Given the description of an element on the screen output the (x, y) to click on. 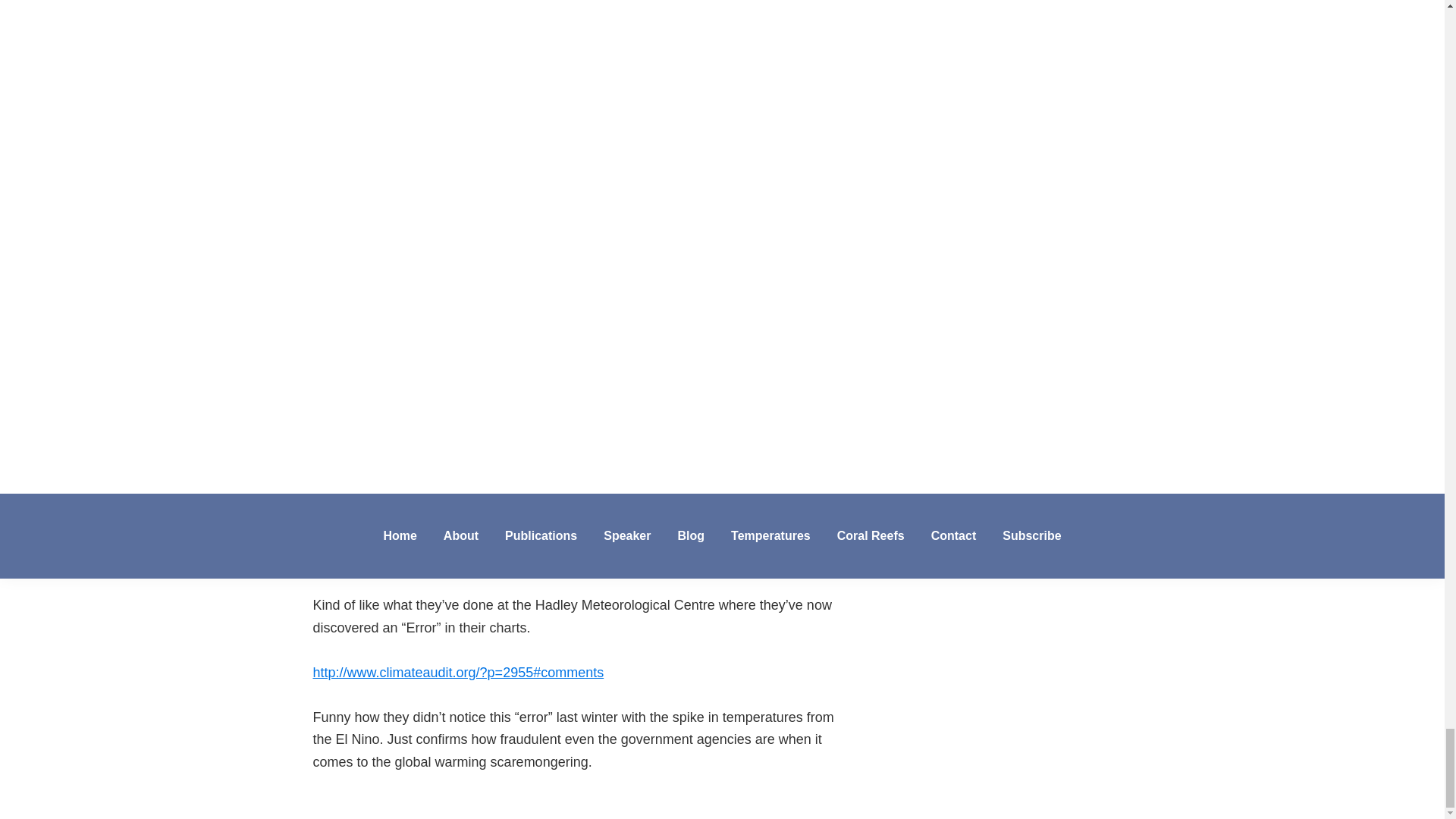
March 31, 2008 at 10:57 pm (454, 60)
Paul Biggs (402, 38)
March 31, 2008 at 11:14 pm (454, 224)
